Given the description of an element on the screen output the (x, y) to click on. 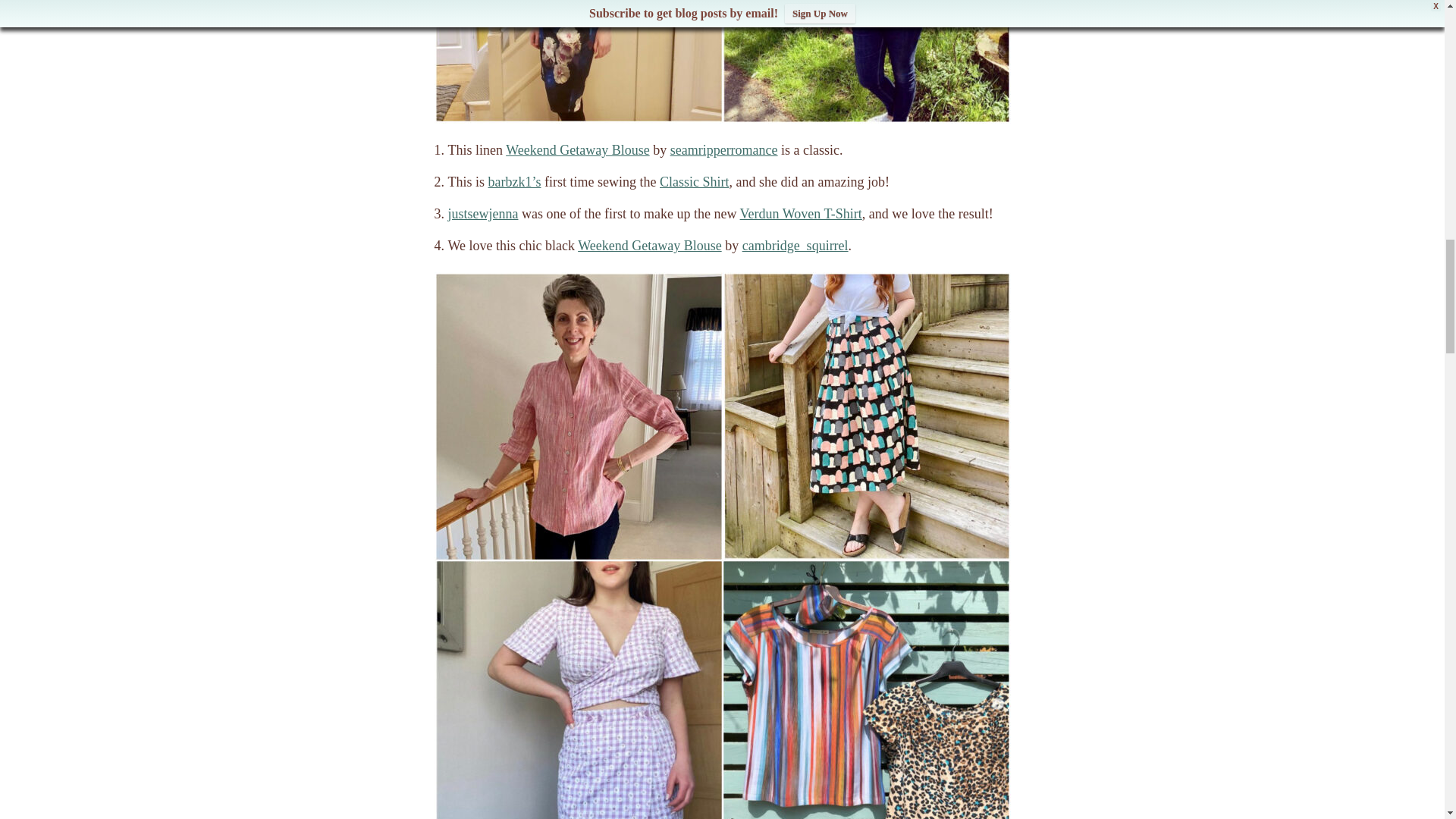
seamripperromance (723, 150)
Weekend Getaway Blouse (577, 150)
justsewjenna (482, 213)
Weekend Getaway Blouse (649, 245)
Classic Shirt (694, 181)
Verdun Woven T-Shirt (800, 213)
